Given the description of an element on the screen output the (x, y) to click on. 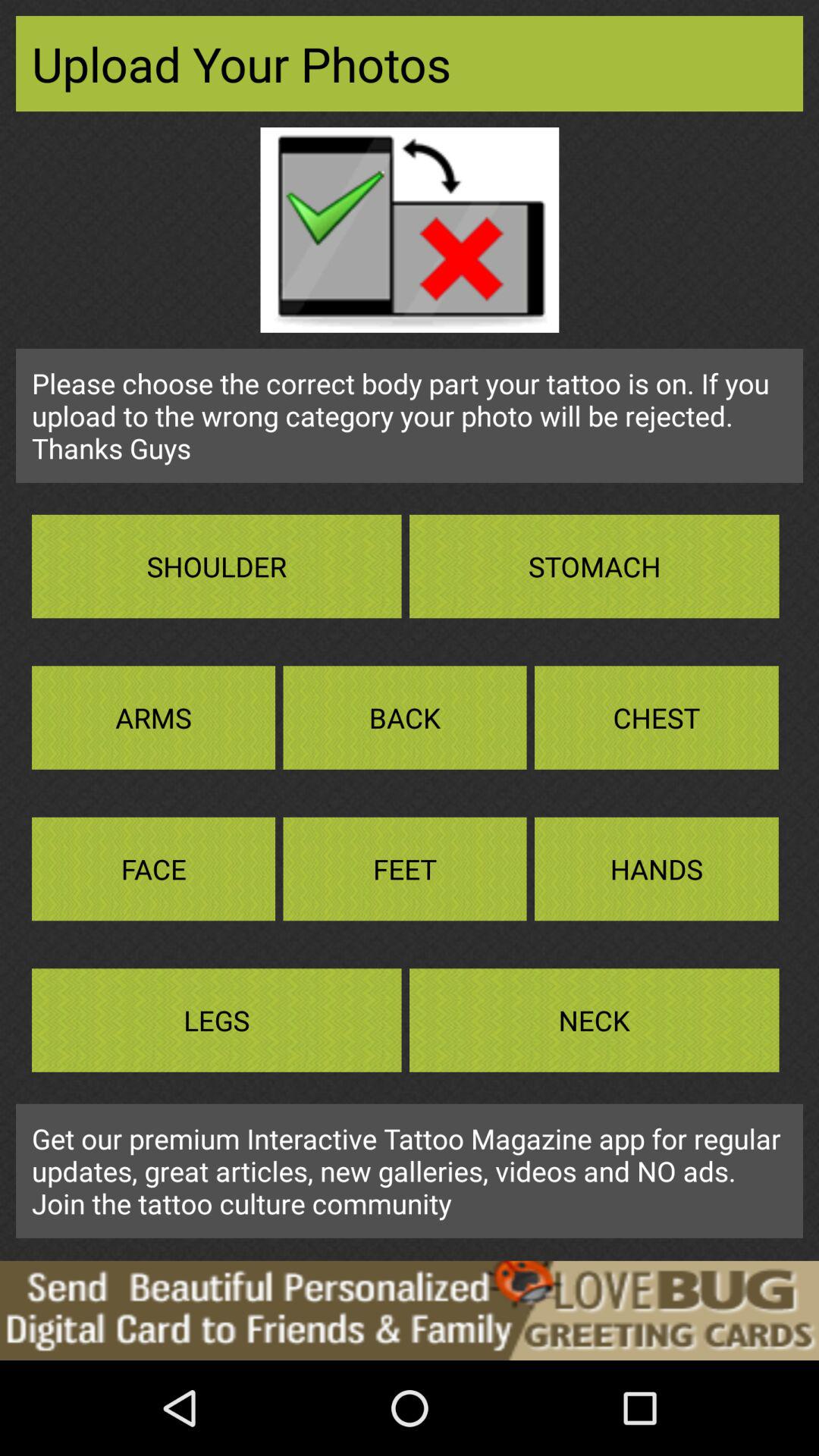
select button under arms (153, 868)
click on button above hands (656, 717)
select the text shown at the bottom after legs (594, 1019)
the box that reads the text stomach (594, 566)
tap on the box which reads the text shoulder (216, 566)
click on the image shown at top below upload (409, 229)
legs (216, 1019)
